Given the description of an element on the screen output the (x, y) to click on. 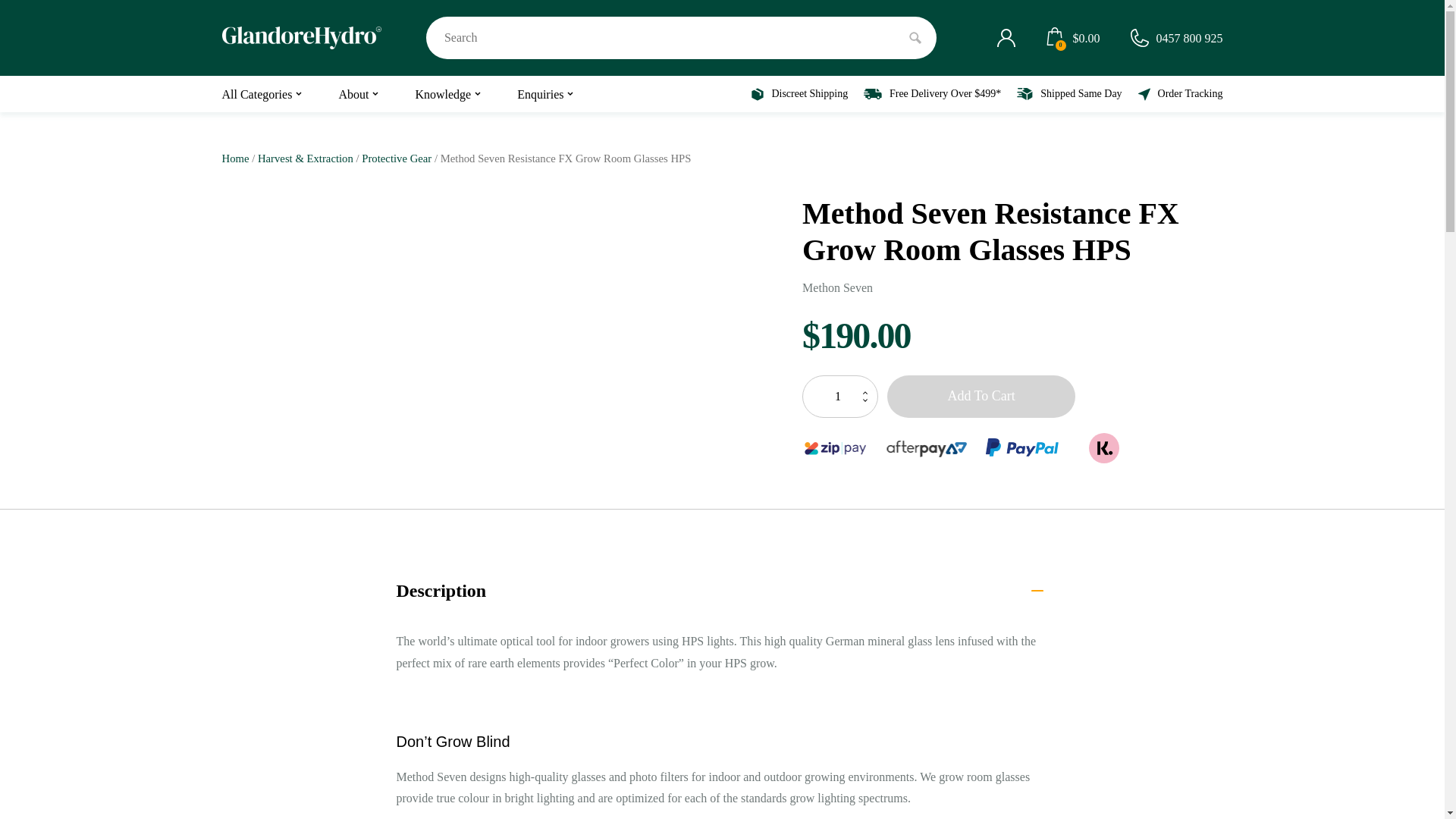
1 (839, 396)
